Given the description of an element on the screen output the (x, y) to click on. 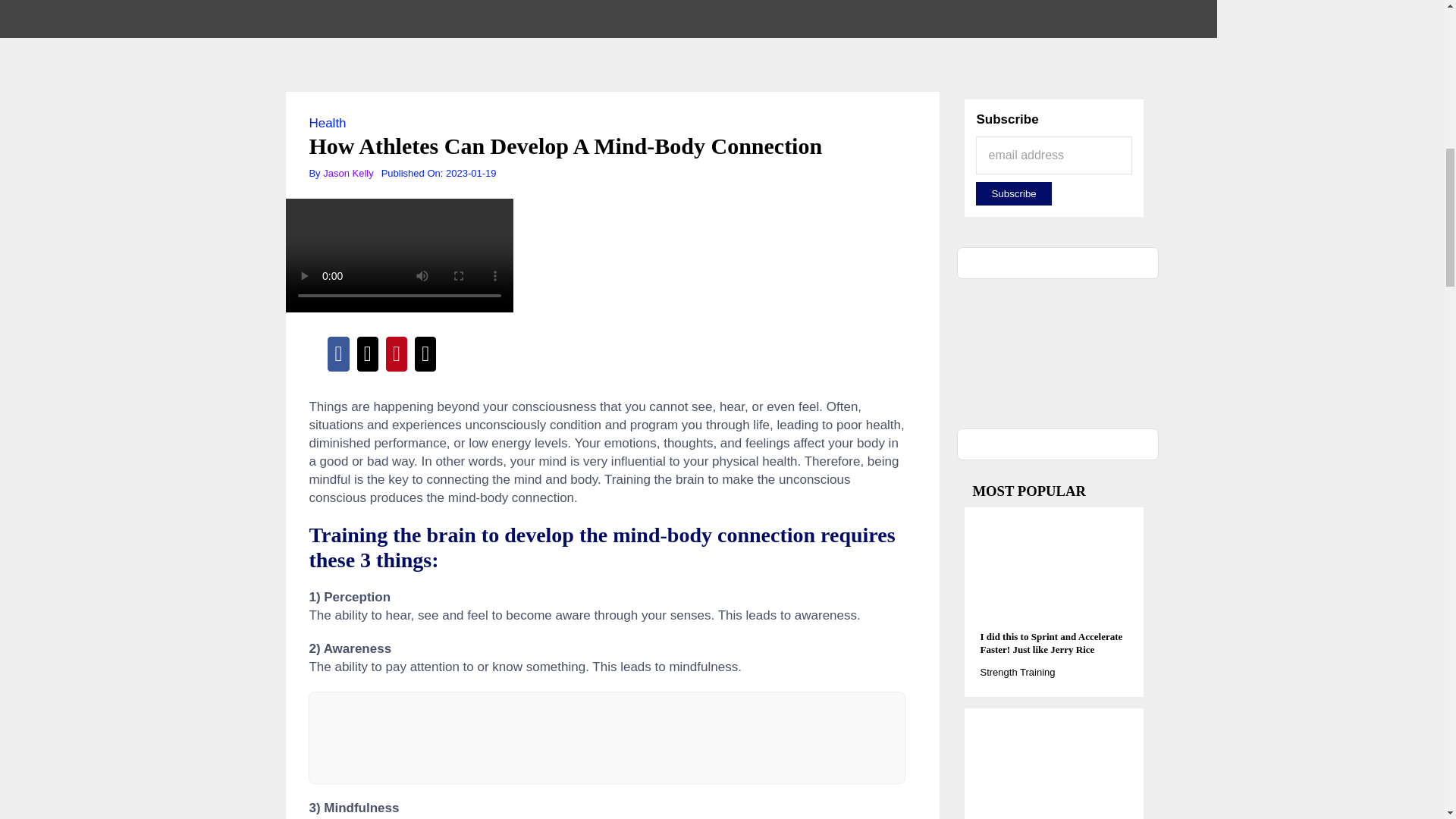
Subscribe (1013, 193)
Posts by Jason Kelly (347, 173)
Health (327, 123)
